Given the description of an element on the screen output the (x, y) to click on. 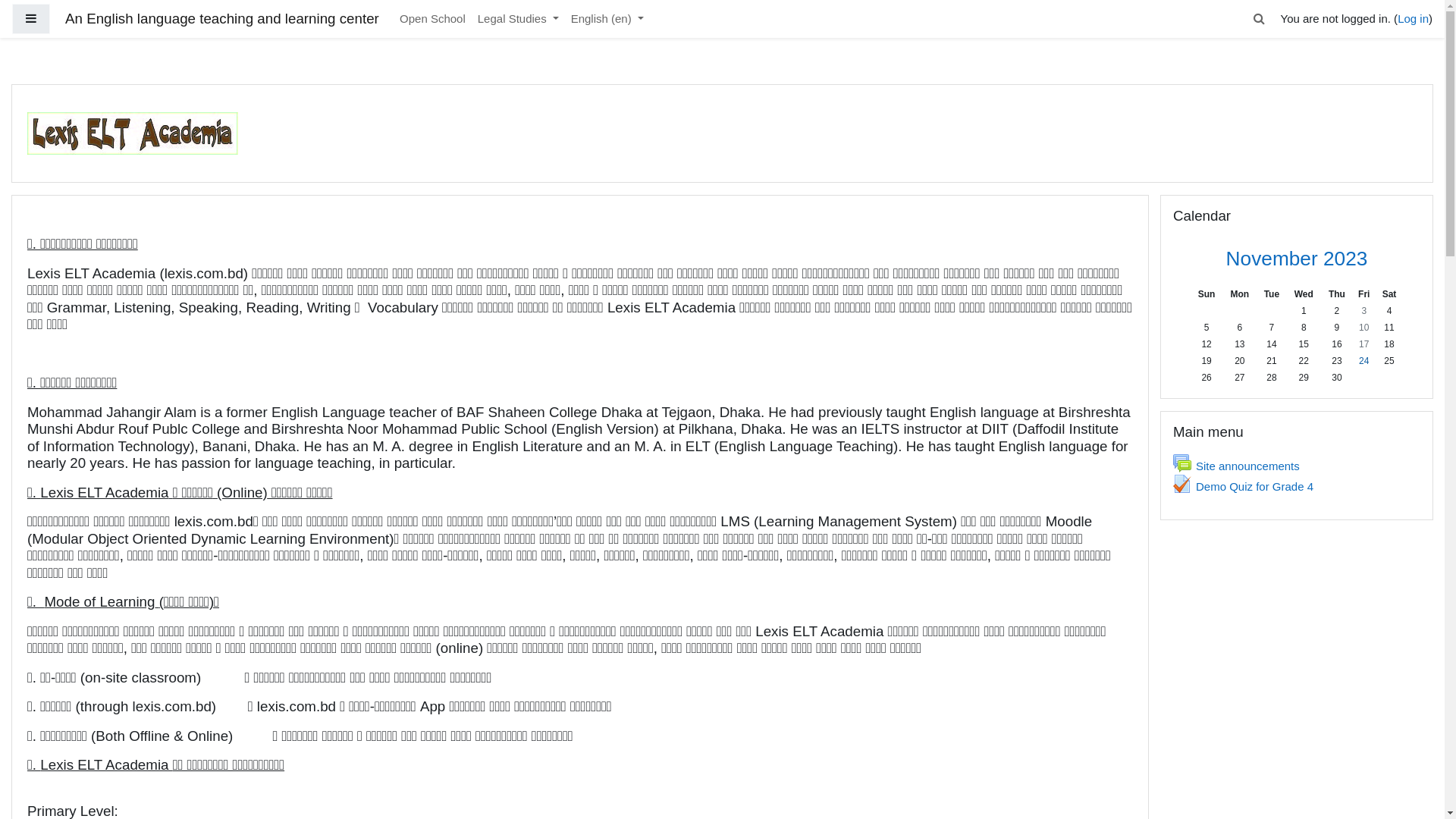
Toggle search input Element type: text (1258, 19)
Open School Element type: text (432, 19)
Log in Element type: text (1412, 18)
Site announcements
Forum Element type: text (1236, 465)
An English language teaching and learning center Element type: text (222, 19)
November 2023 Element type: text (1297, 258)
Demo Quiz for Grade 4 Element type: text (1243, 486)
24 Element type: text (1363, 360)
Skip Main menu Element type: text (1159, 410)
English (en) Element type: text (606, 19)
Side panel Element type: text (31, 18)
Skip Calendar Element type: text (1159, 194)
Legal Studies Element type: text (517, 19)
